Given the description of an element on the screen output the (x, y) to click on. 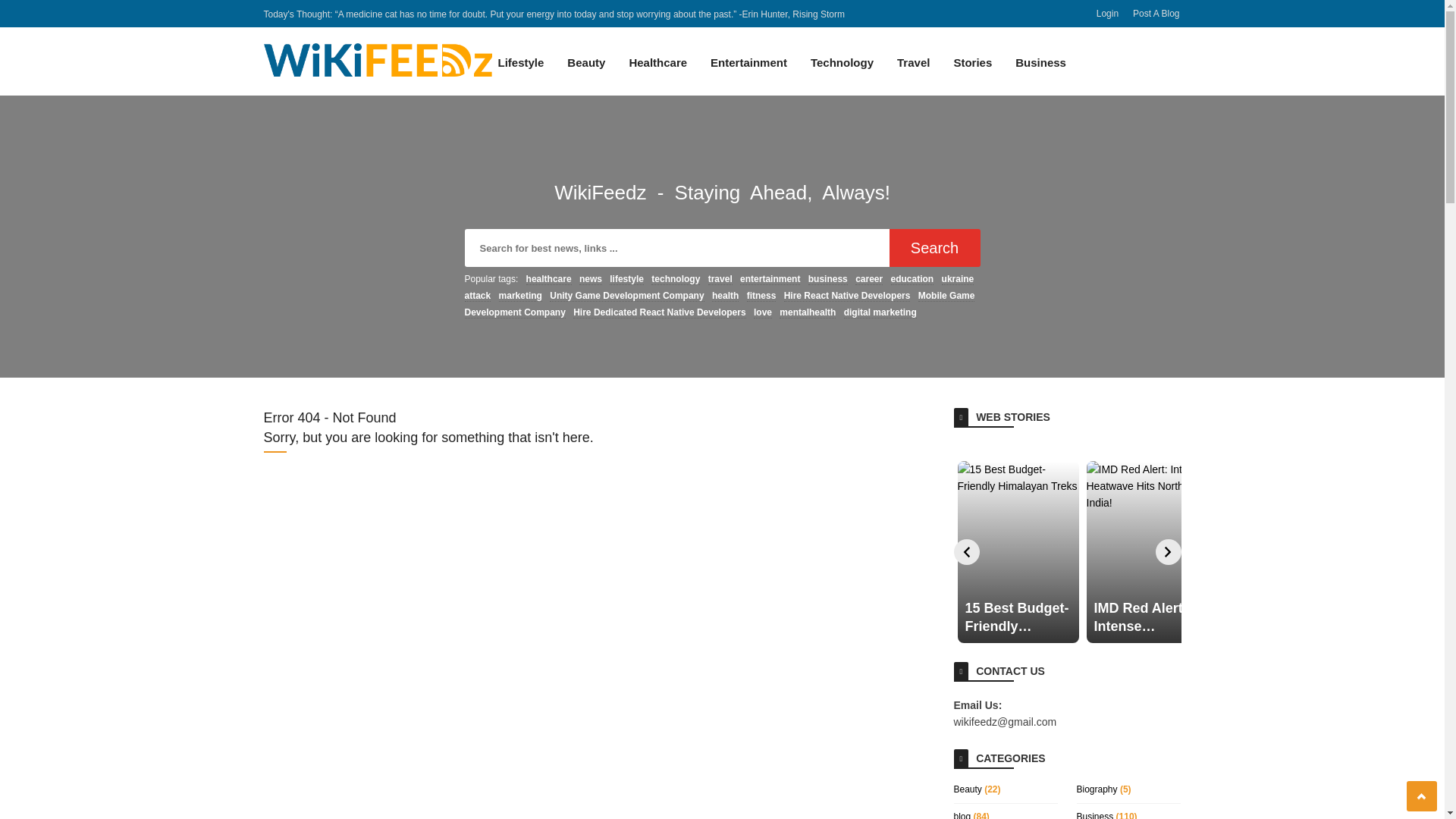
fitness (761, 296)
Technology (842, 70)
ukraine attack (719, 287)
Search (933, 247)
Lifestyle (521, 70)
health (724, 296)
Search (933, 247)
news (590, 279)
lifestyle (626, 279)
business (827, 279)
Login (1107, 13)
Healthcare (658, 70)
Entertainment (748, 70)
career (869, 279)
marketing (520, 296)
